Given the description of an element on the screen output the (x, y) to click on. 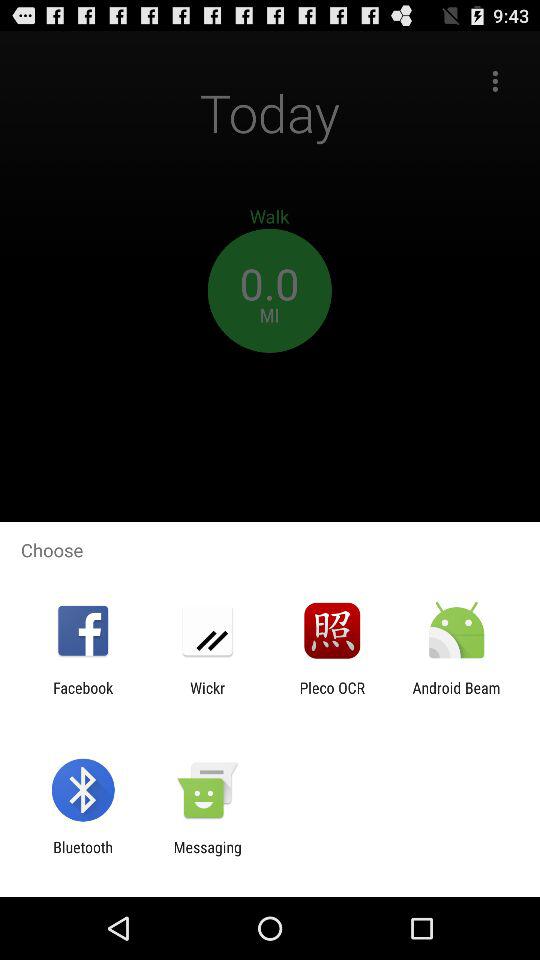
choose the icon to the left of the android beam app (331, 696)
